Given the description of an element on the screen output the (x, y) to click on. 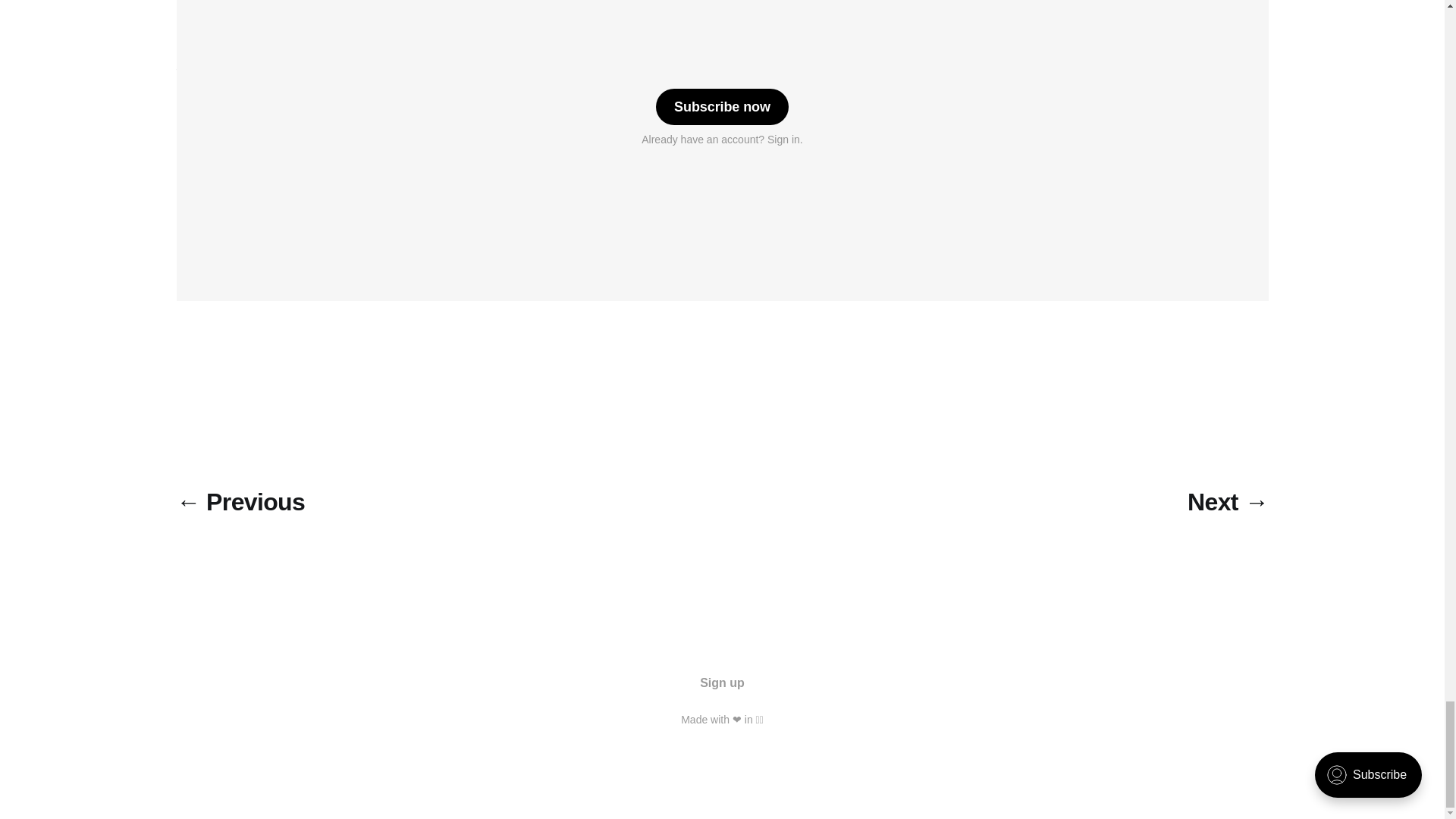
Subscribe now (722, 106)
Sign up (722, 682)
